Given the description of an element on the screen output the (x, y) to click on. 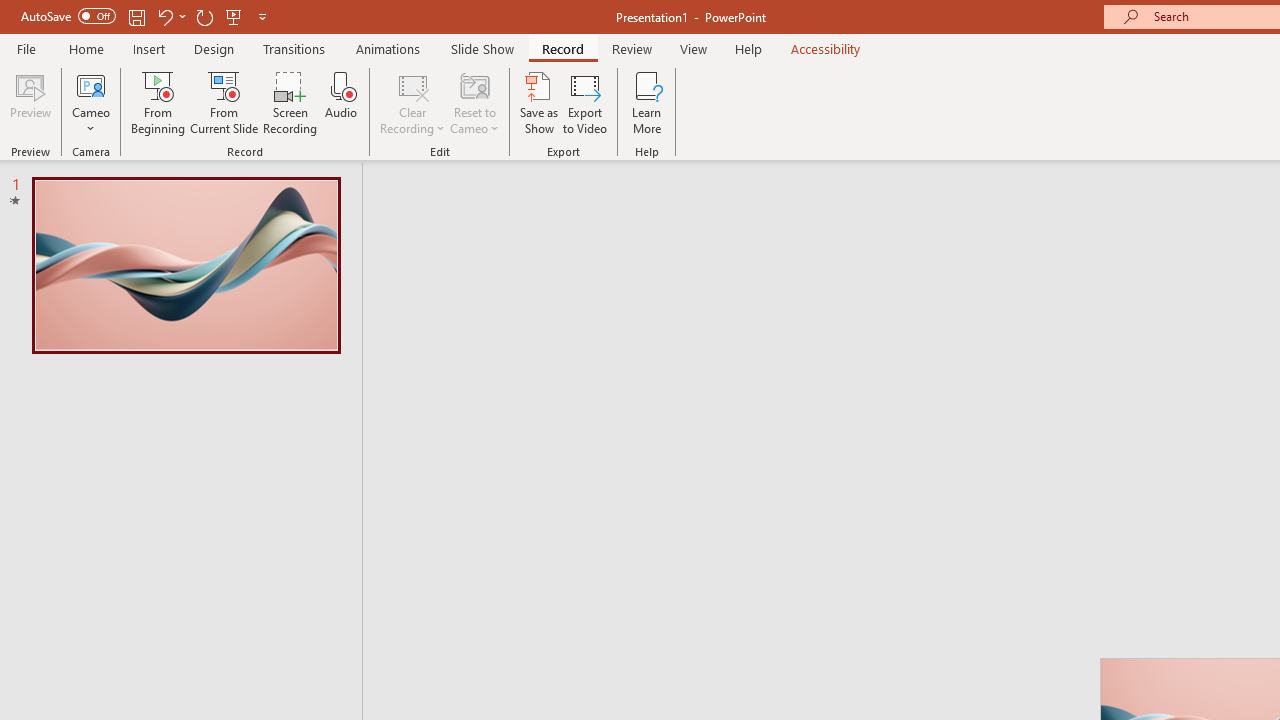
Reset to Cameo (474, 102)
From Current Slide... (224, 102)
Clear Recording (412, 102)
Learn More (646, 102)
